Given the description of an element on the screen output the (x, y) to click on. 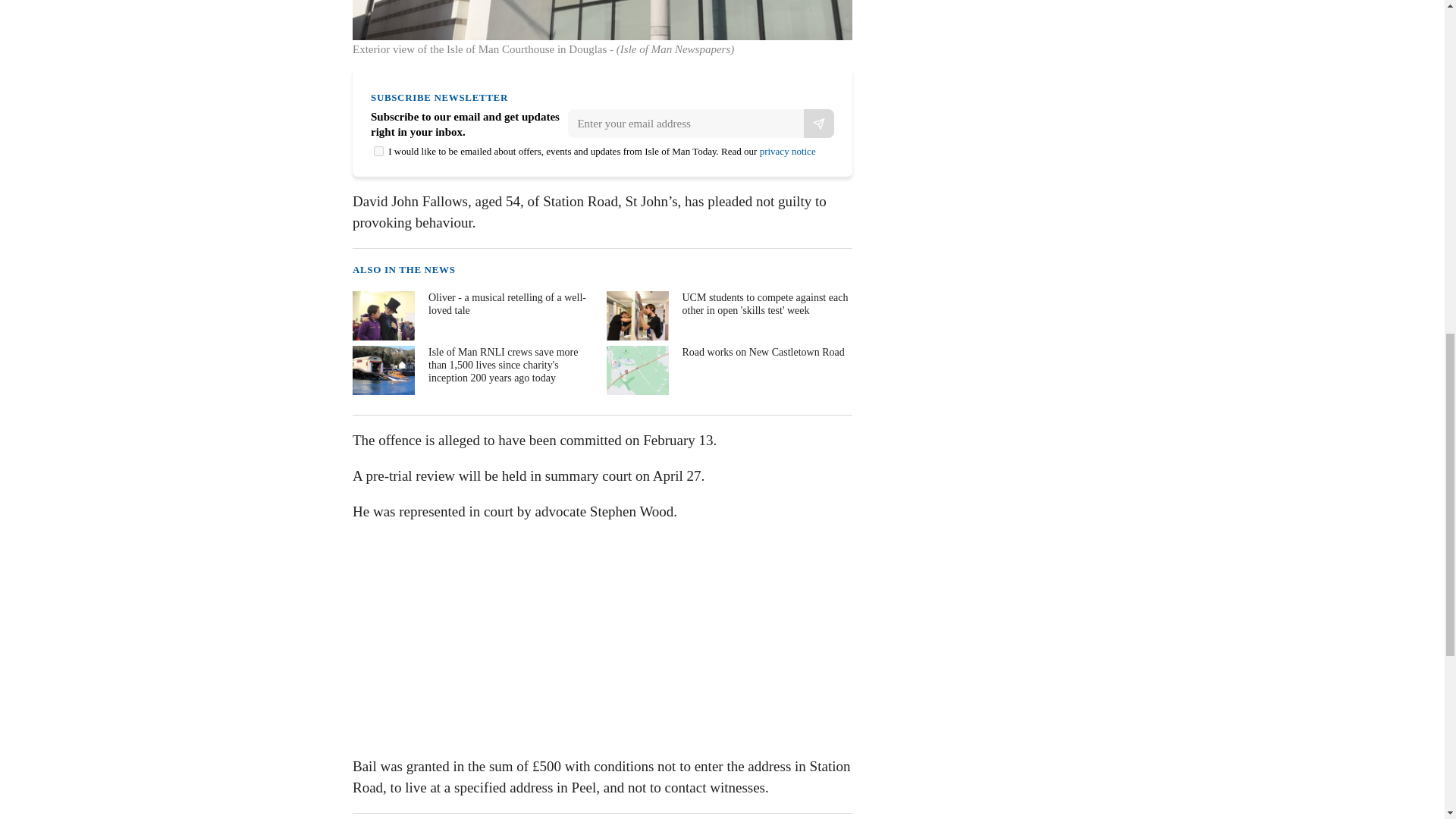
privacy notice (787, 151)
Road works on New Castletown Road (727, 369)
Oliver - a musical retelling of a well-loved tale (473, 315)
